Given the description of an element on the screen output the (x, y) to click on. 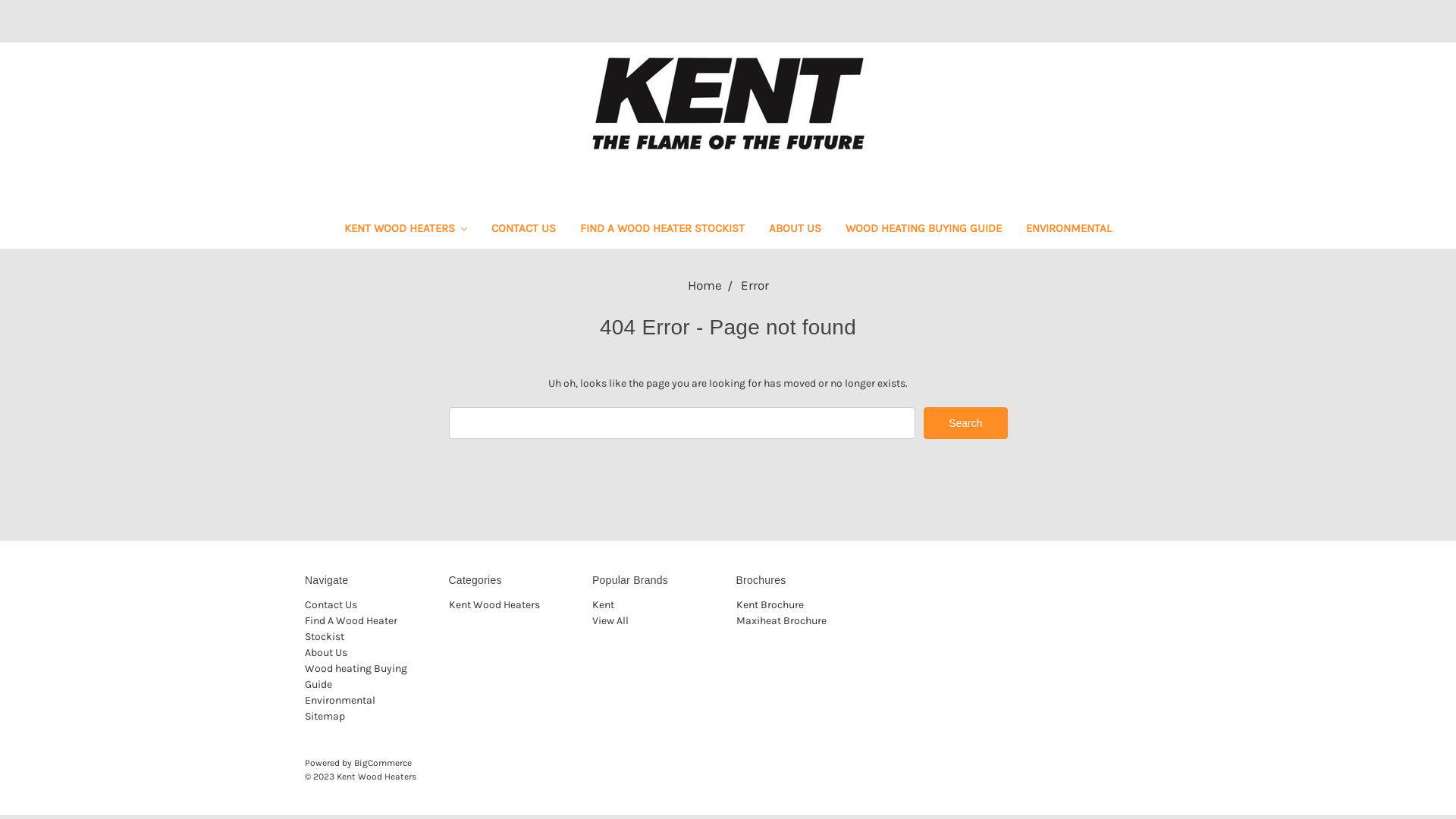
Contact Us Element type: text (330, 604)
FIND A WOOD HEATER STOCKIST Element type: text (661, 229)
Kent Element type: text (603, 604)
Sitemap Element type: text (324, 715)
Kent Brochure Element type: text (769, 604)
View All Element type: text (610, 620)
Home Element type: text (704, 284)
Kent Wood Heaters Element type: hover (727, 103)
BigCommerce Element type: text (382, 762)
Environmental Element type: text (339, 699)
Kent Wood Heaters Element type: text (493, 604)
About Us Element type: text (325, 652)
Find A Wood Heater Stockist Element type: text (350, 628)
CONTACT US Element type: text (523, 229)
ENVIRONMENTAL Element type: text (1068, 229)
Search Element type: text (965, 423)
Wood heating Buying Guide Element type: text (355, 676)
KENT WOOD HEATERS Element type: text (406, 229)
WOOD HEATING BUYING GUIDE Element type: text (923, 229)
Maxiheat Brochure Element type: text (780, 620)
ABOUT US Element type: text (794, 229)
